Given the description of an element on the screen output the (x, y) to click on. 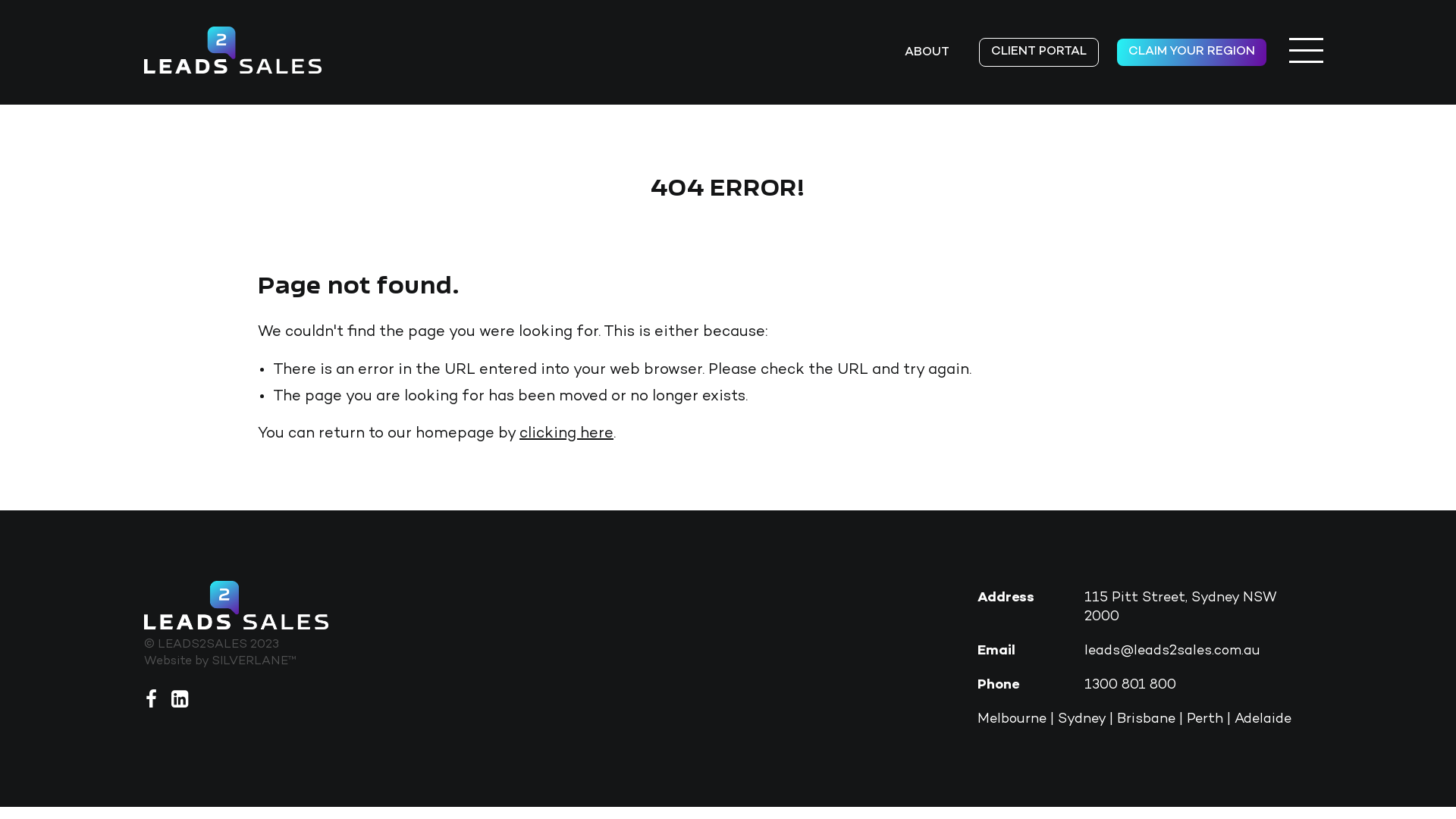
ABOUT Element type: text (926, 52)
1300 801 800 Element type: text (1130, 684)
clicking here Element type: text (566, 434)
CLAIM YOUR REGION Element type: text (1191, 51)
CLIENT PORTAL Element type: text (1038, 51)
LEADS2SALES Element type: hover (232, 49)
leads@leads2sales.com.au Element type: text (1172, 650)
